Given the description of an element on the screen output the (x, y) to click on. 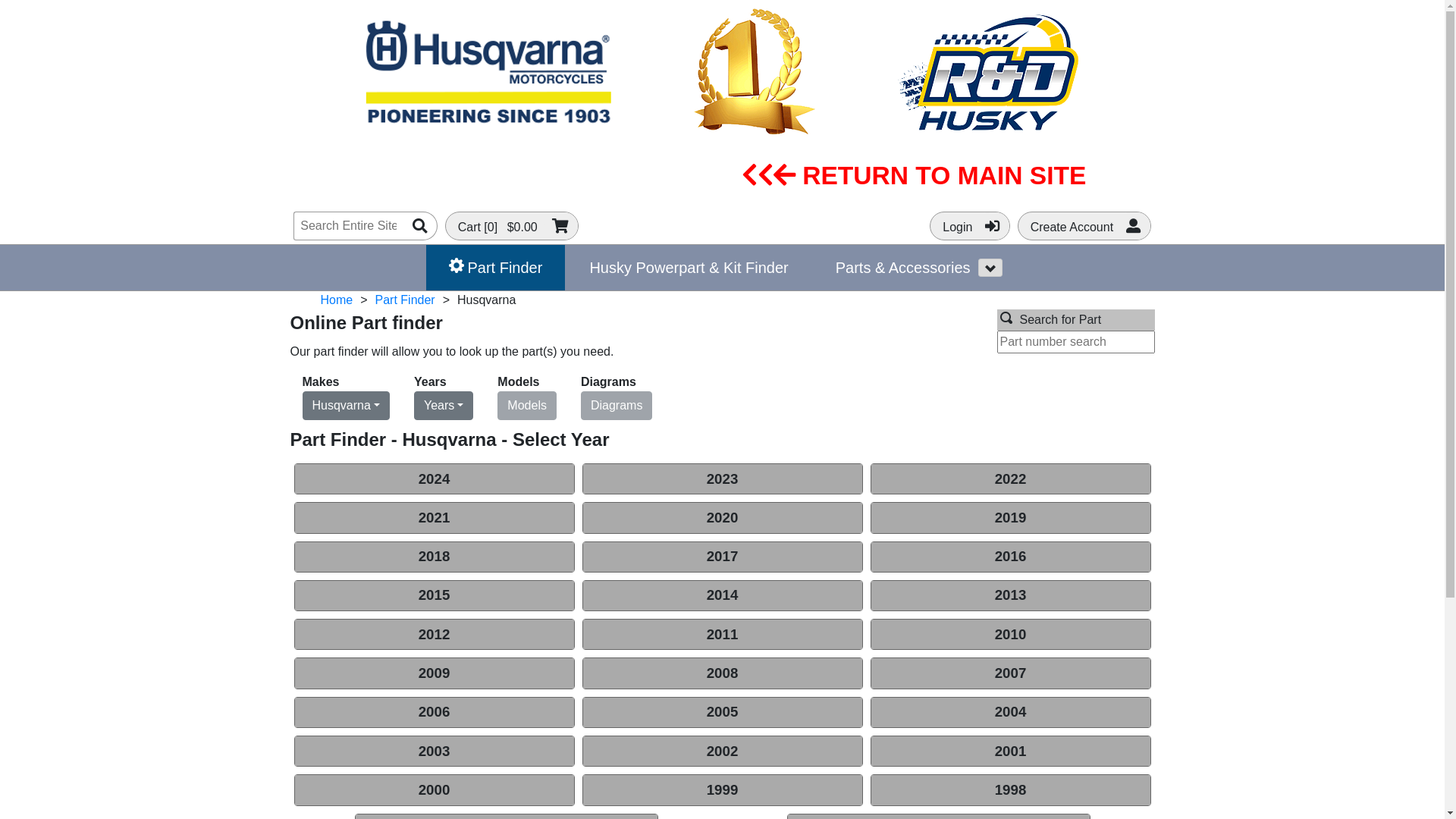
2000 Element type: text (433, 789)
2024 Element type: text (433, 478)
1998 Element type: text (1009, 789)
Models Element type: text (526, 405)
2019 Element type: text (1009, 517)
2014 Element type: text (721, 595)
2008 Element type: text (721, 672)
Husqvarna Element type: text (345, 405)
Part Finder Element type: text (495, 267)
2009 Element type: text (433, 672)
2002 Element type: text (721, 750)
Diagrams Element type: text (616, 405)
2007 Element type: text (1009, 672)
Login Element type: text (969, 225)
Part Finder Element type: text (405, 299)
2022 Element type: text (1009, 478)
2020 Element type: text (721, 517)
2017 Element type: text (721, 556)
2011 Element type: text (721, 634)
Years Element type: text (443, 405)
2012 Element type: text (433, 634)
Home Element type: text (336, 299)
Parts & Accessories Element type: text (895, 267)
1999 Element type: text (721, 789)
2018 Element type: text (433, 556)
2010 Element type: text (1009, 634)
2003 Element type: text (433, 750)
2013 Element type: text (1009, 595)
2001 Element type: text (1009, 750)
Create Account Element type: text (1084, 225)
2021 Element type: text (433, 517)
2023 Element type: text (721, 478)
RETURN TO MAIN SITE Element type: text (913, 175)
Husky Powerpart & Kit Finder Element type: text (688, 267)
2004 Element type: text (1009, 712)
2016 Element type: text (1009, 556)
Cart 0 0.00 Element type: text (511, 225)
2015 Element type: text (433, 595)
2006 Element type: text (433, 712)
2005 Element type: text (721, 712)
